Given the description of an element on the screen output the (x, y) to click on. 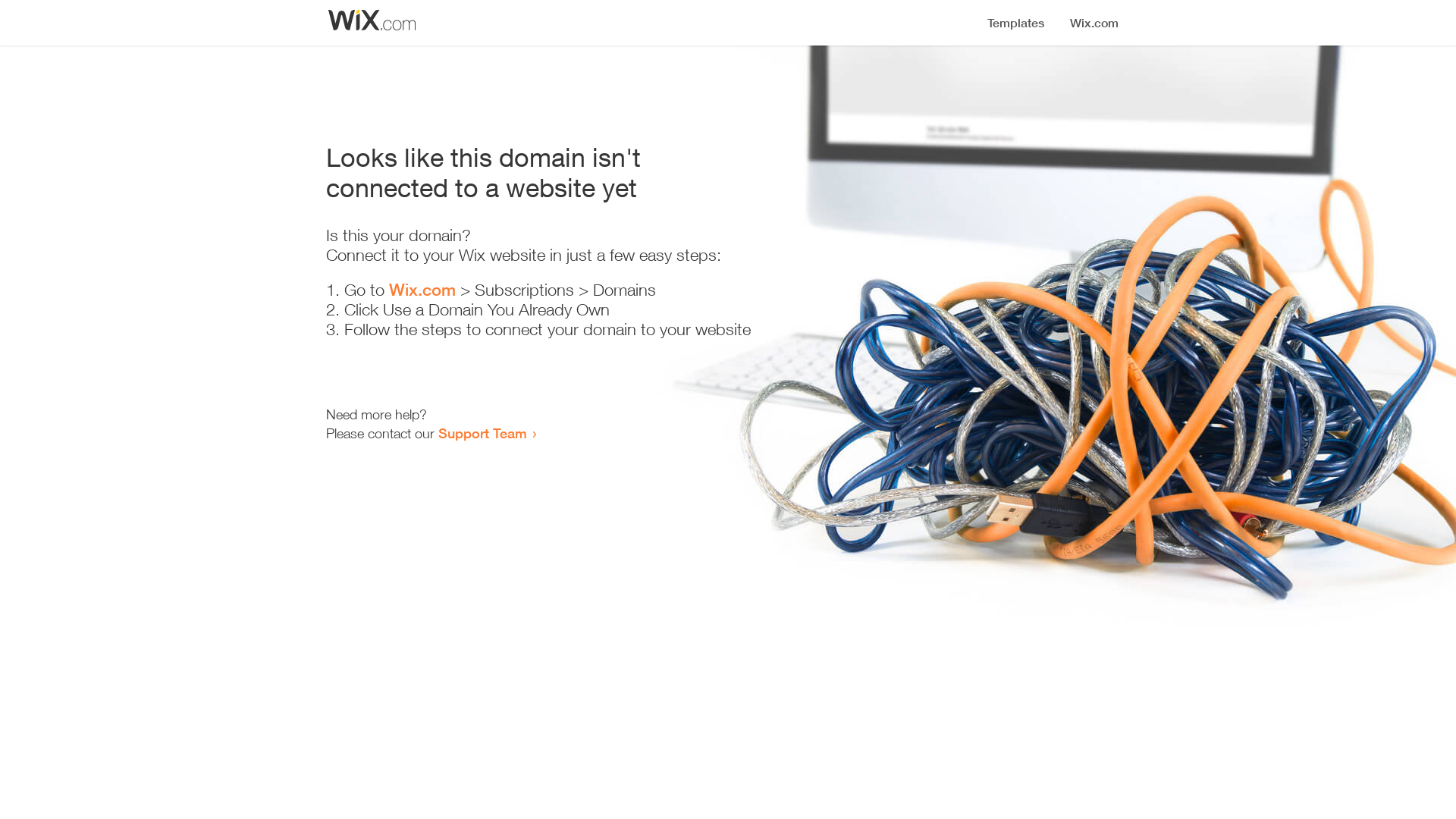
Wix.com Element type: text (422, 289)
Support Team Element type: text (482, 432)
